Given the description of an element on the screen output the (x, y) to click on. 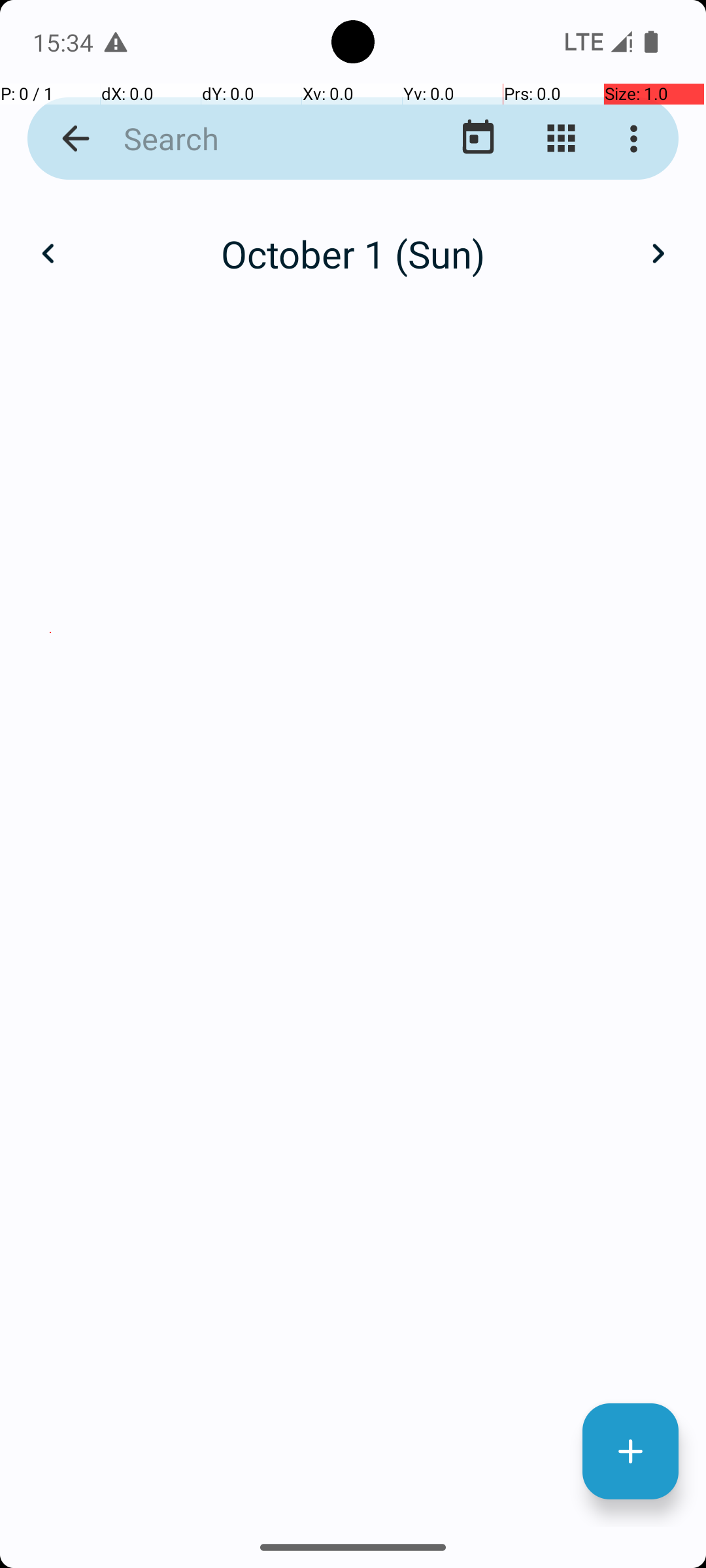
October 1 (Sun) Element type: android.widget.TextView (352, 253)
